Given the description of an element on the screen output the (x, y) to click on. 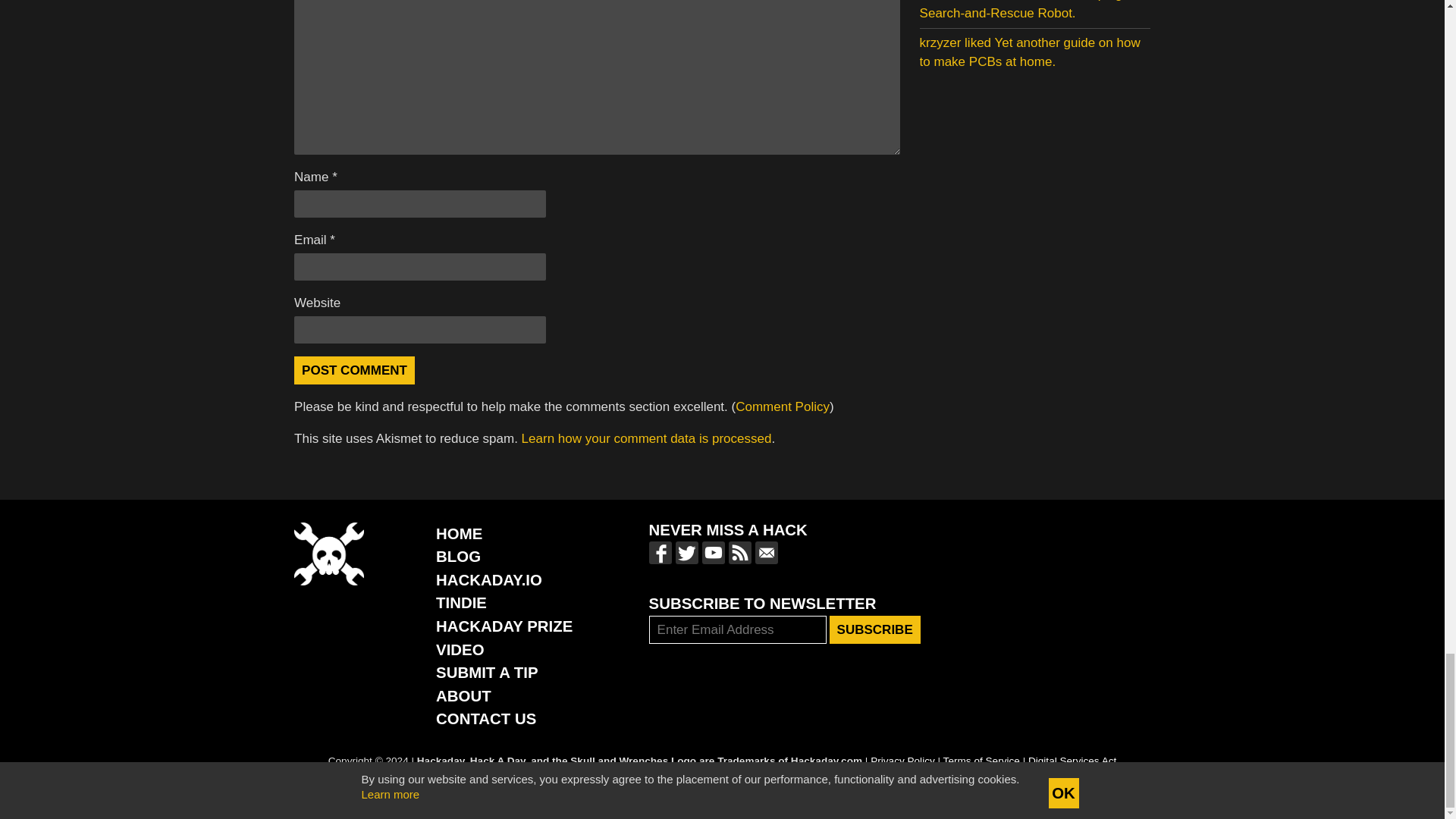
Post Comment (354, 370)
Build Something that Matters (503, 626)
Subscribe (874, 629)
